Given the description of an element on the screen output the (x, y) to click on. 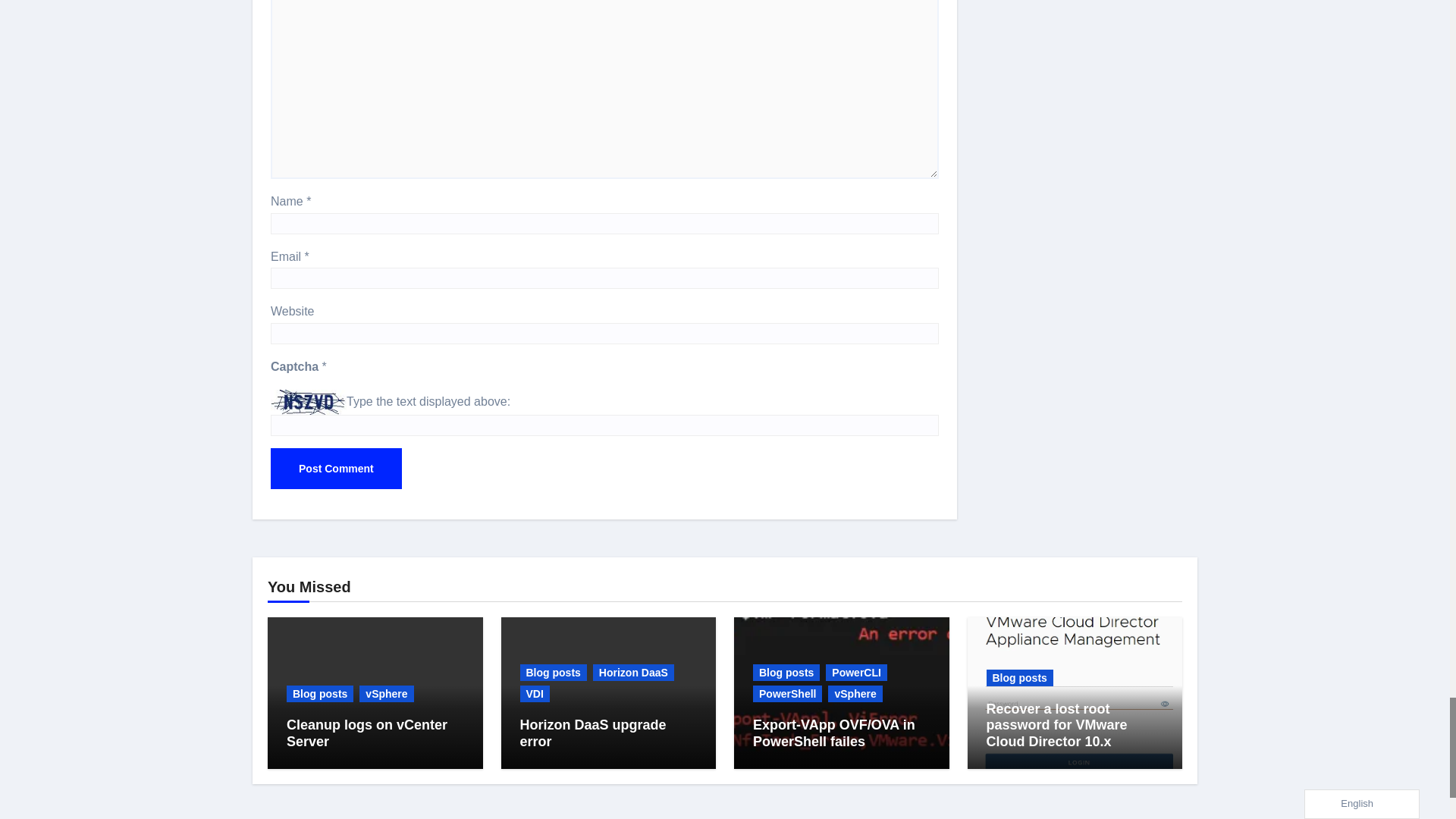
Post Comment (335, 467)
